Given the description of an element on the screen output the (x, y) to click on. 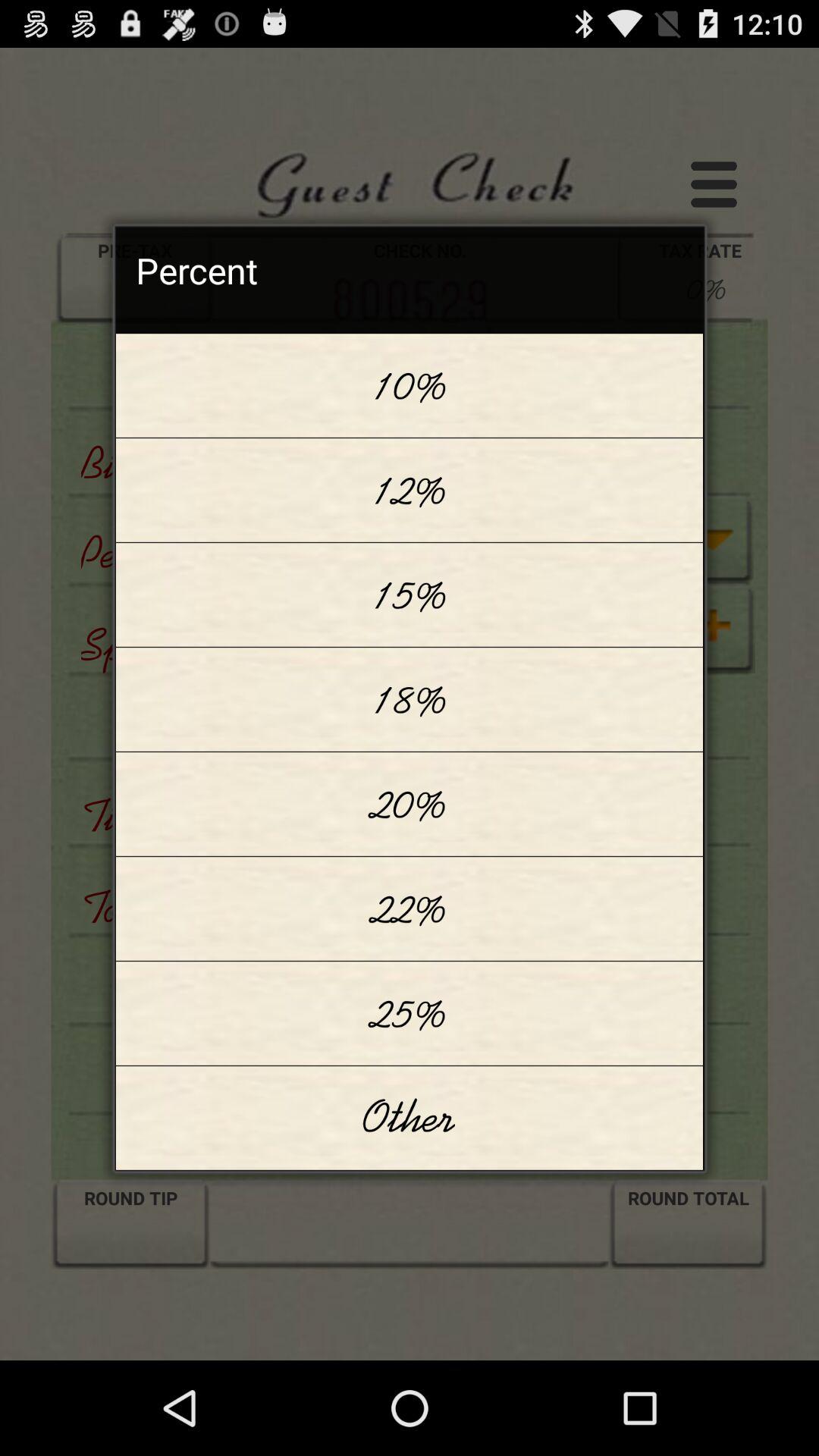
tap the 10% icon (409, 384)
